Given the description of an element on the screen output the (x, y) to click on. 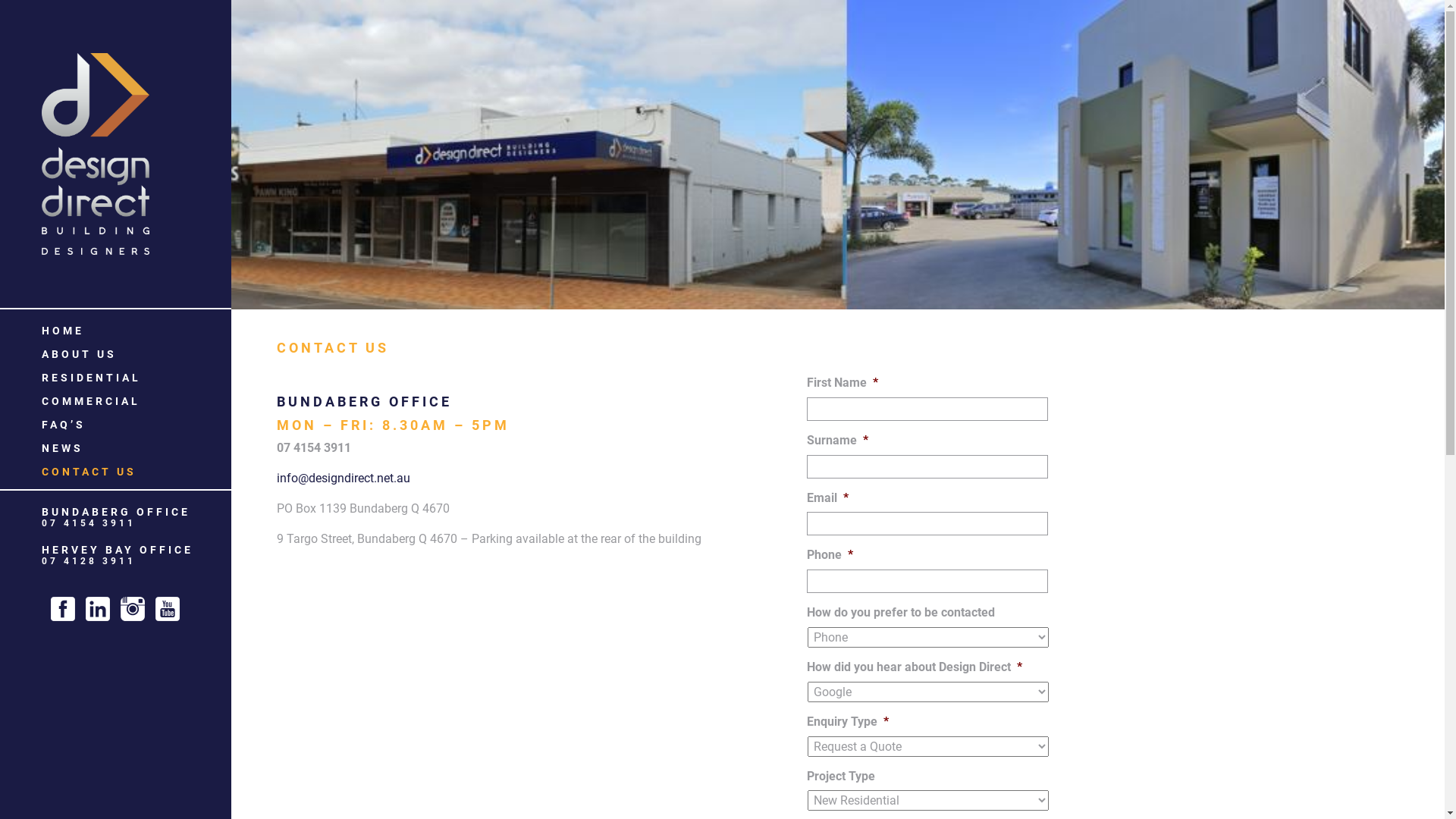
NEWS Element type: text (62, 448)
ABOUT US Element type: text (78, 354)
RESIDENTIAL Element type: text (91, 377)
Instagram Element type: text (132, 608)
LinkedIn Element type: text (97, 608)
CONTACT US Element type: text (88, 471)
Facebook Element type: text (62, 608)
YouTube Element type: text (167, 608)
info@designdirect.net.au Element type: text (343, 477)
HOME Element type: text (62, 330)
COMMERCIAL Element type: text (90, 401)
